Given the description of an element on the screen output the (x, y) to click on. 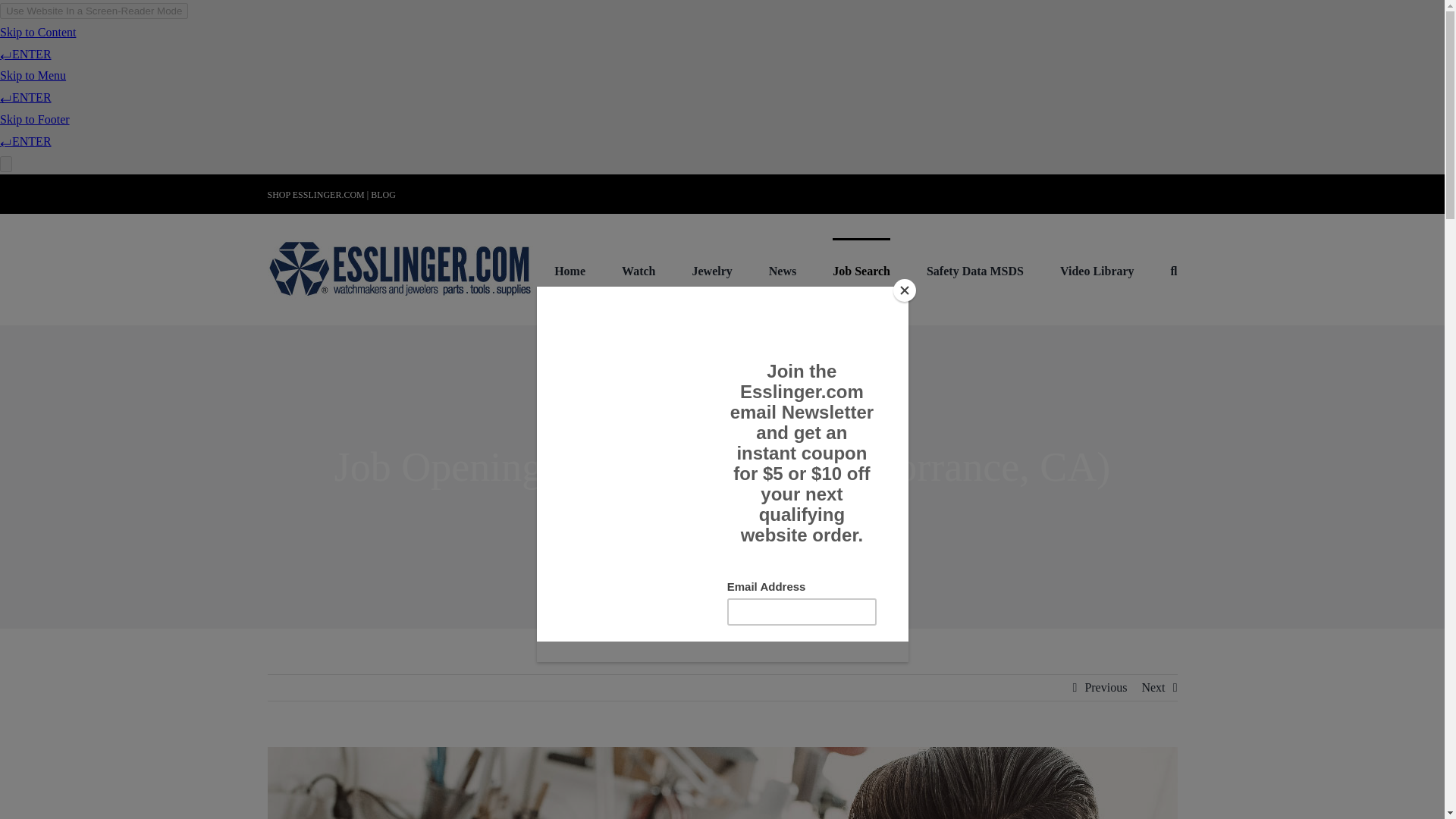
Watch (638, 270)
Safety Data MSDS (974, 270)
Video Library (1096, 270)
BLOG (383, 194)
Search (1173, 270)
Jewelry (711, 270)
Image Courtesy of Adobe Stock (721, 782)
SHOP ESSLINGER.COM (315, 194)
Job Search (860, 270)
News (782, 270)
Home (569, 270)
